Given the description of an element on the screen output the (x, y) to click on. 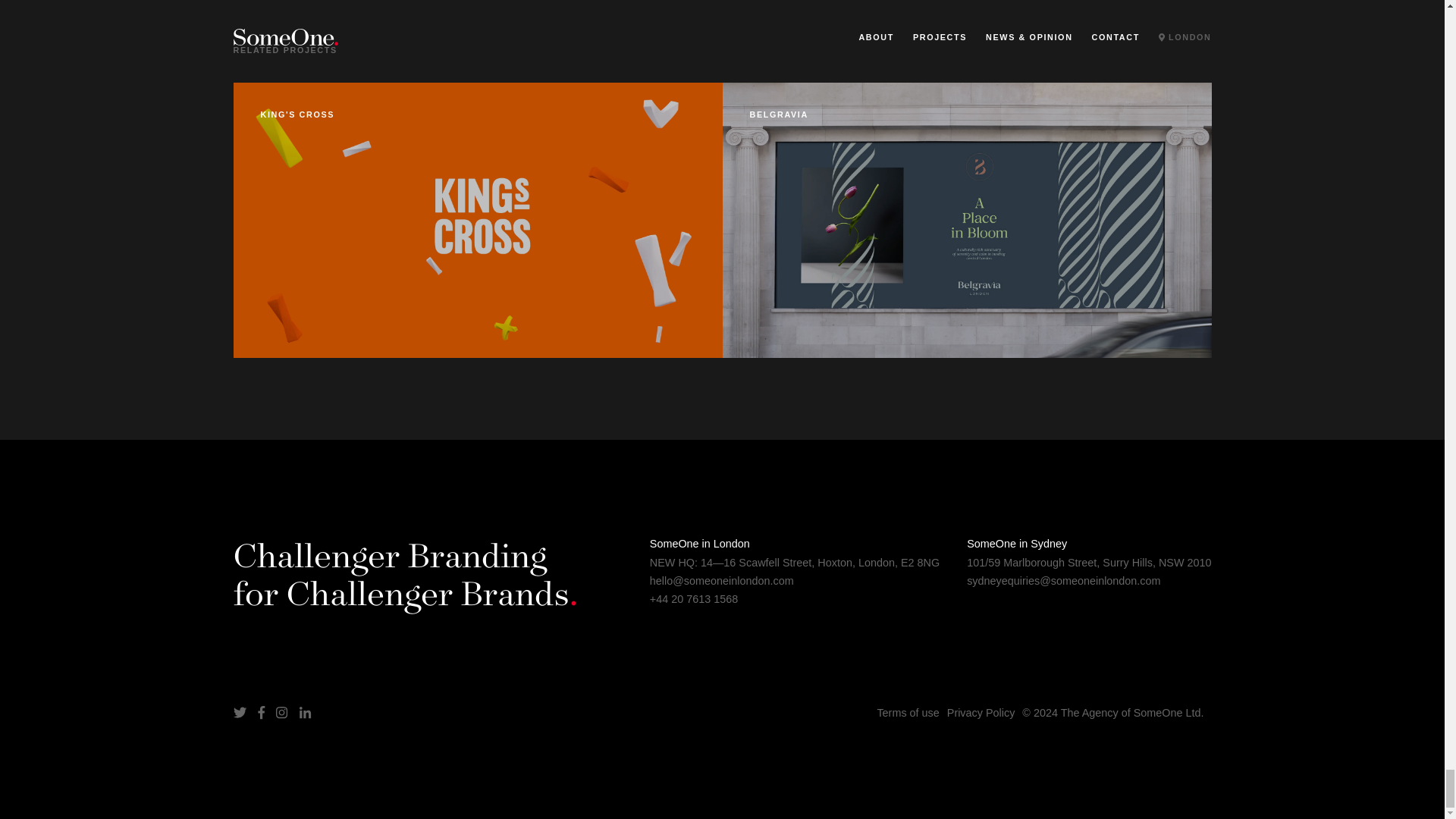
Terms of use (907, 712)
Privacy Policy (980, 712)
